Given the description of an element on the screen output the (x, y) to click on. 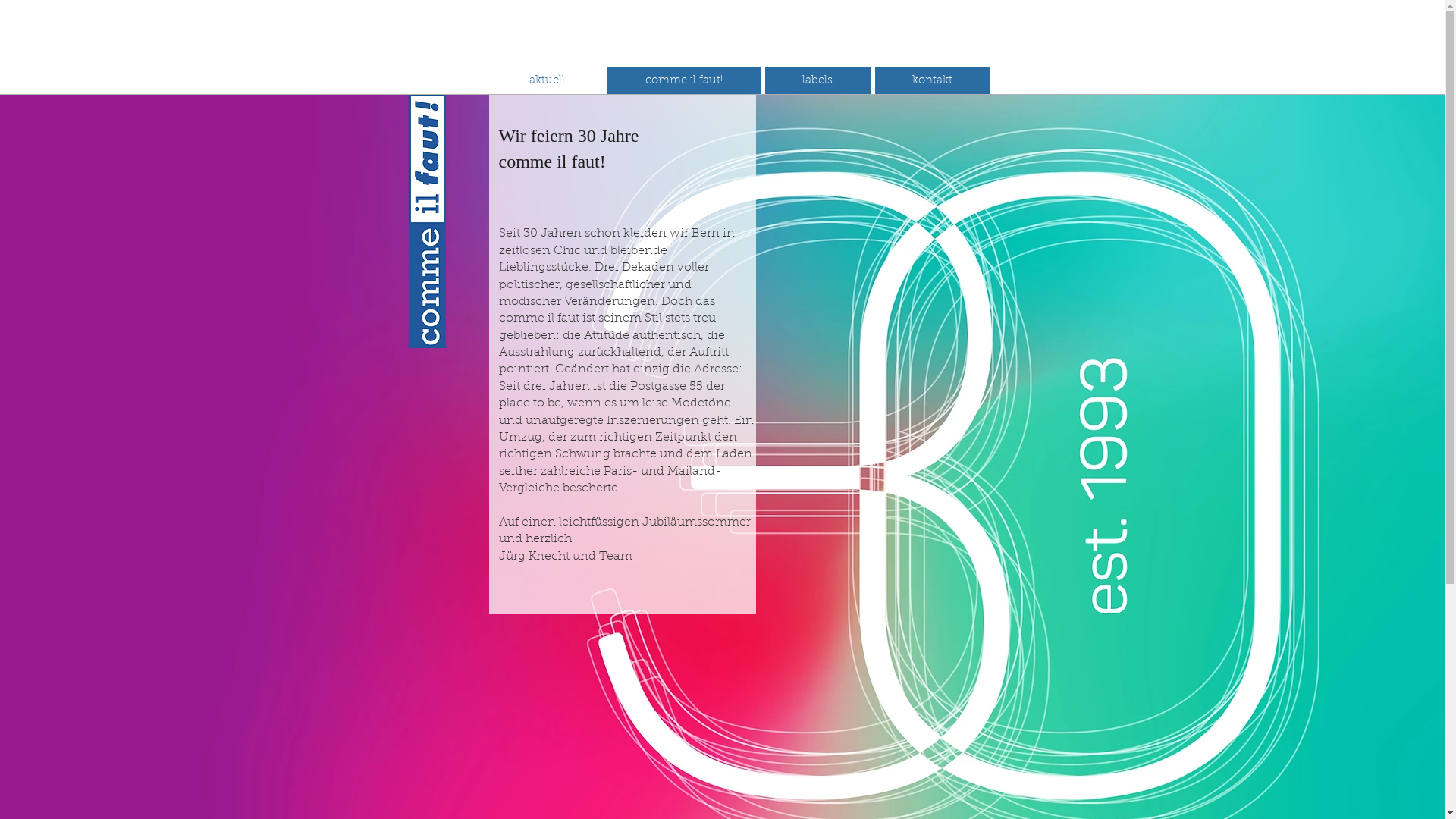
logocif_edited.png 2015-12-16-8_35_6 Element type: hover (413, 221)
comme il faut! Element type: text (682, 80)
labels Element type: text (816, 80)
aktuell Element type: text (546, 80)
kontakt Element type: text (932, 80)
